Given the description of an element on the screen output the (x, y) to click on. 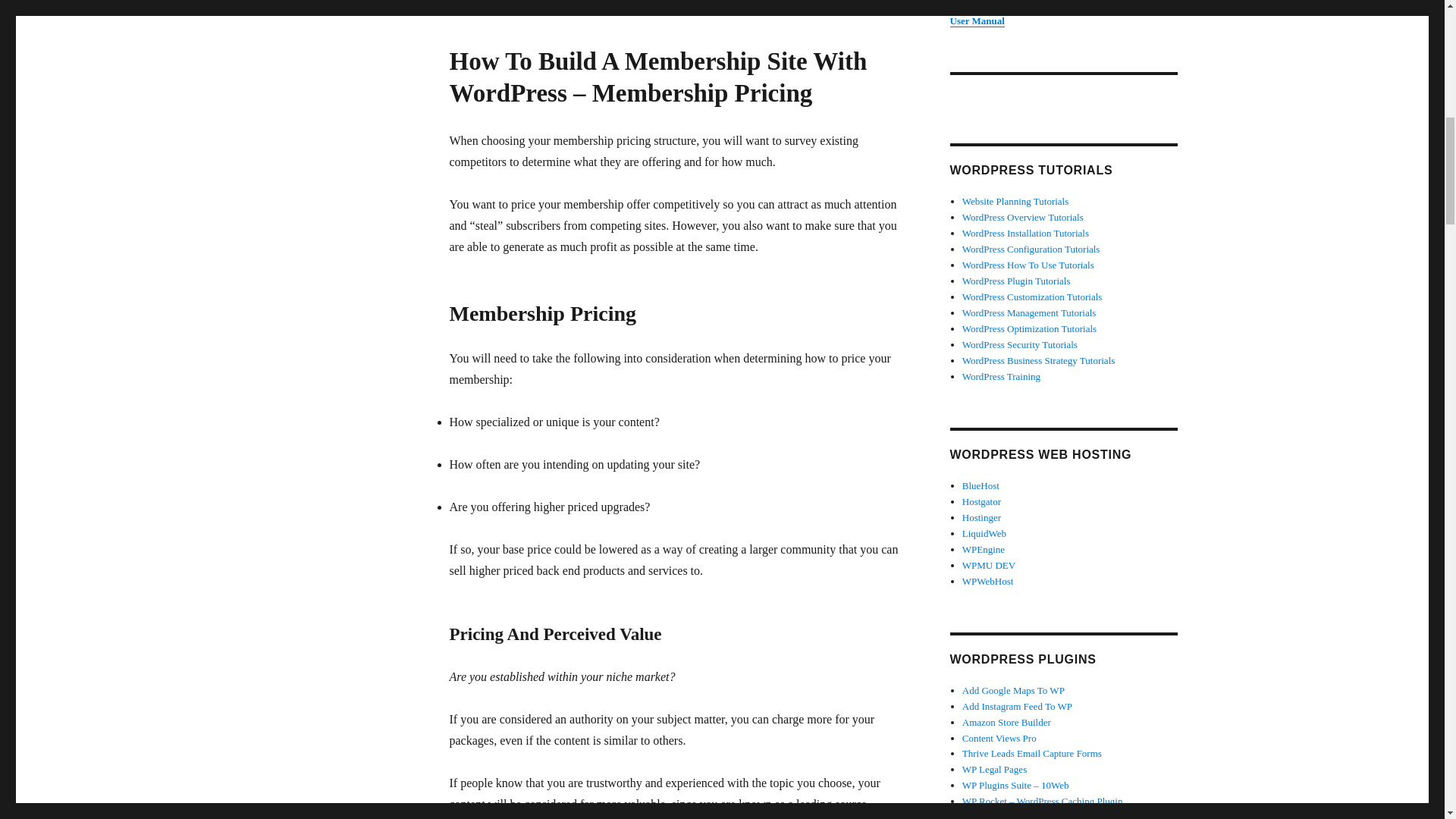
BlueHost (980, 485)
WordPress Hosting (981, 517)
Build your mailing list faster! (1032, 753)
Ready-to-use legal templates for your WordPress site! (994, 768)
Add a Google map to your WordPress website! (1013, 690)
Display WordPress content in amazing layouts without coding! (999, 737)
Display your Instagram feed on your WordPress site! (1016, 706)
Build monetized Amazon affiliate stores quickly and easily! (1006, 722)
Hostgator (981, 501)
WPWebHost (987, 581)
